Given the description of an element on the screen output the (x, y) to click on. 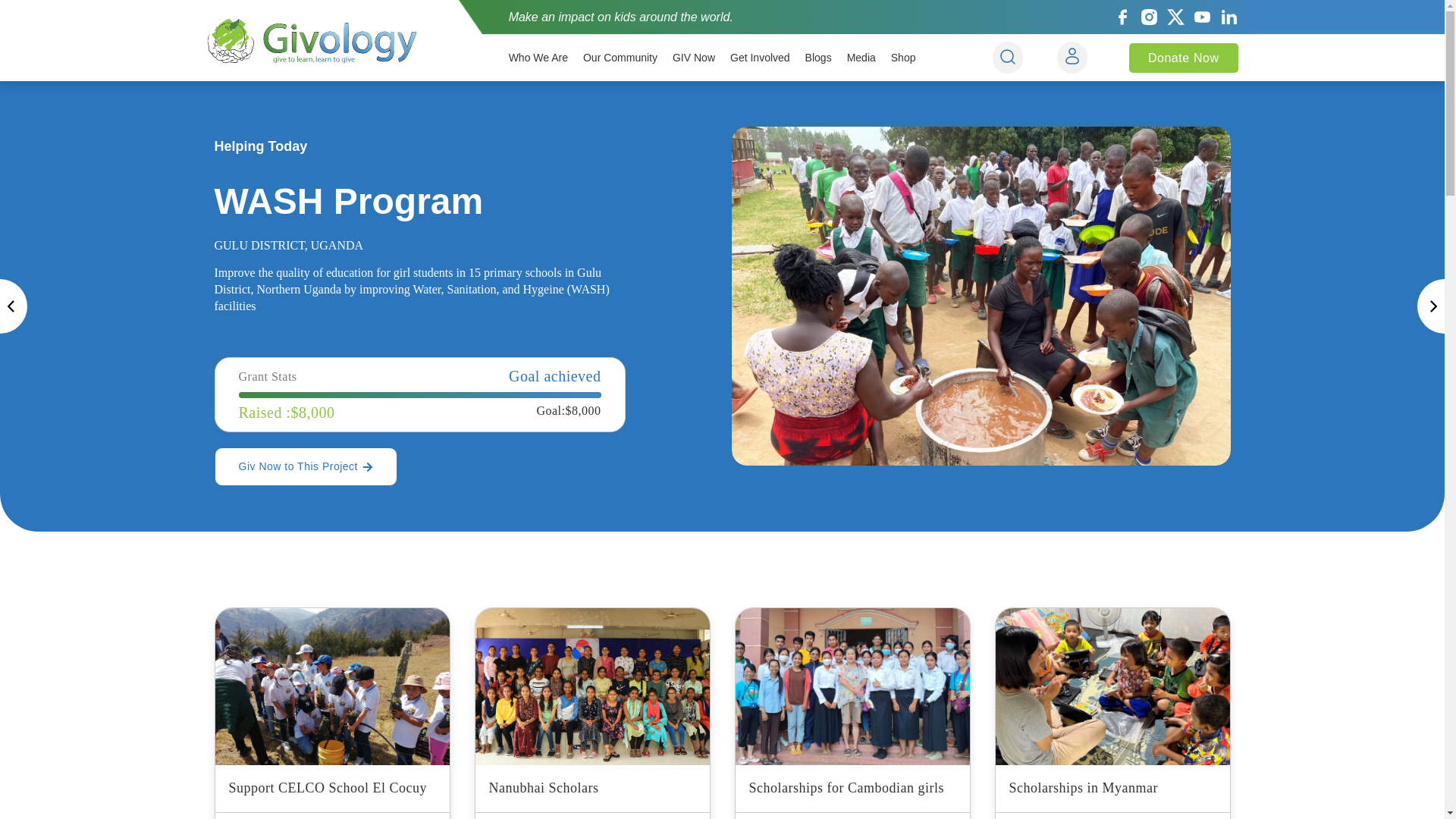
Shop (903, 57)
Get Involved (760, 57)
Media (861, 57)
Our Community (620, 57)
Who We Are (537, 57)
Blogs (818, 57)
Donate Now (1184, 57)
GIV Now (693, 57)
